Given the description of an element on the screen output the (x, y) to click on. 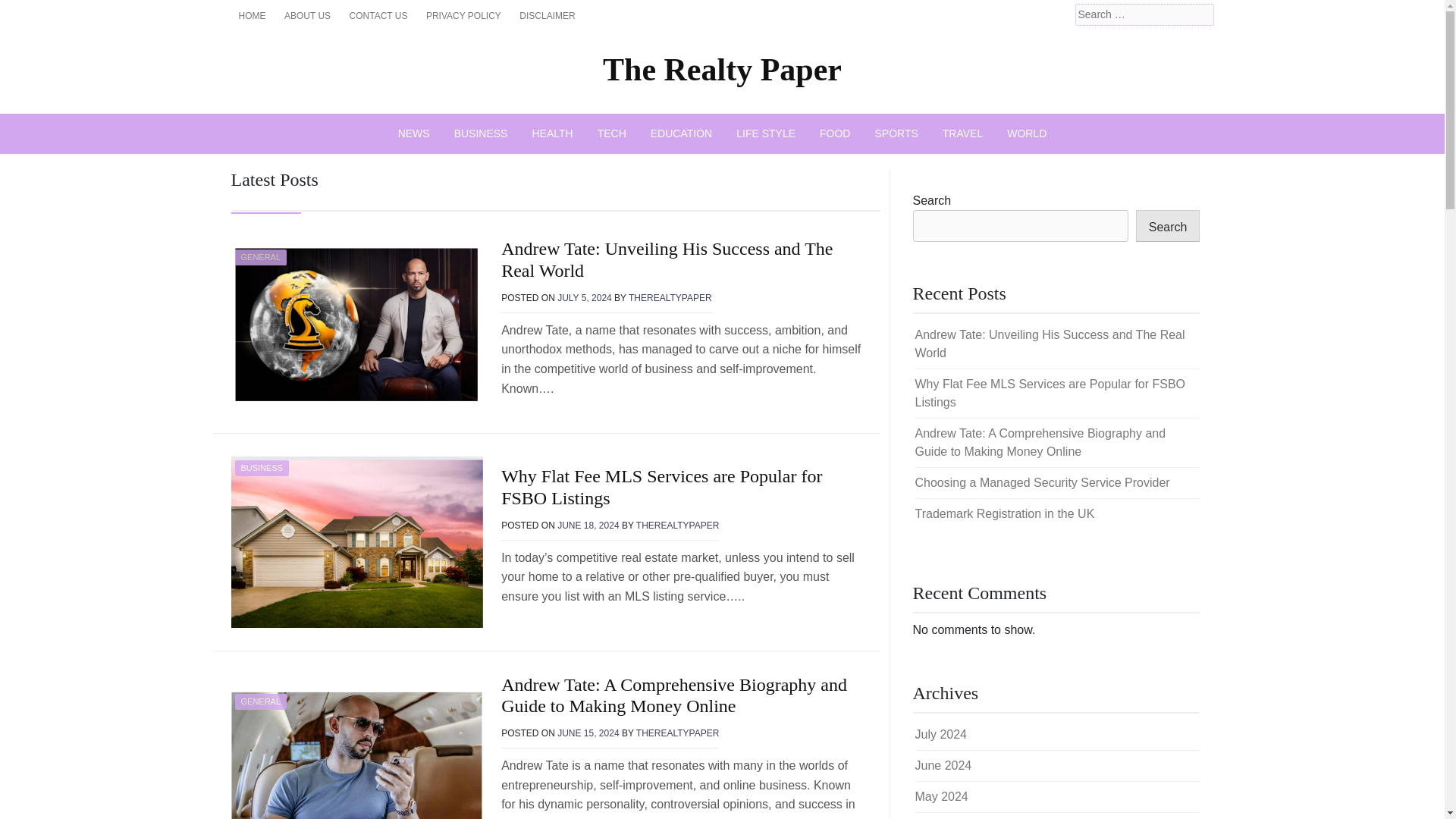
TRAVEL (962, 133)
Why Flat Fee MLS Services are Popular for FSBO Listings (661, 486)
SPORTS (895, 133)
WORLD (1026, 133)
DISCLAIMER (547, 15)
GENERAL (260, 256)
Andrew Tate: Unveiling His Success and The Real World (666, 259)
NEWS (413, 133)
GENERAL (260, 701)
